Given the description of an element on the screen output the (x, y) to click on. 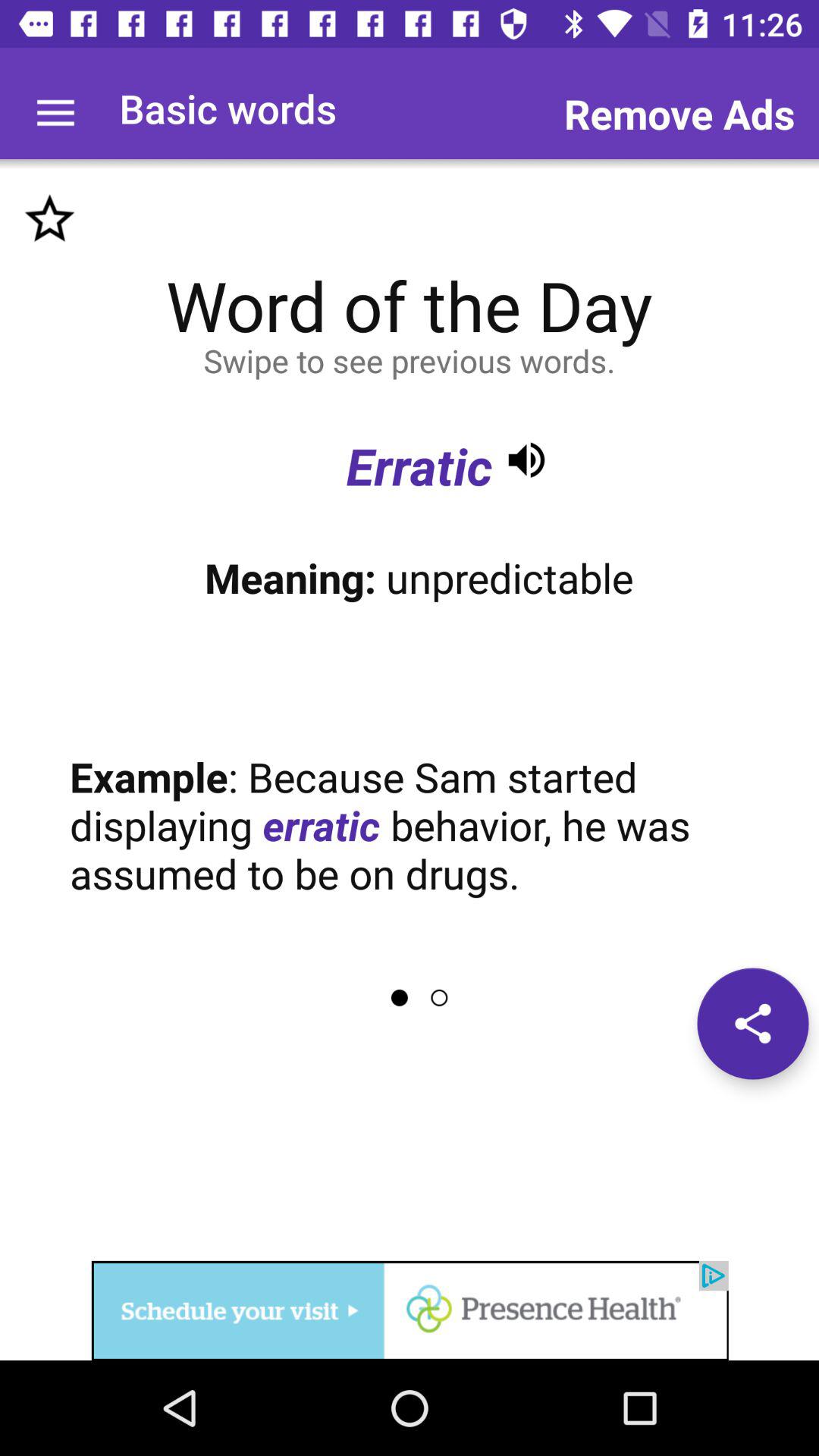
share the article (752, 1023)
